Given the description of an element on the screen output the (x, y) to click on. 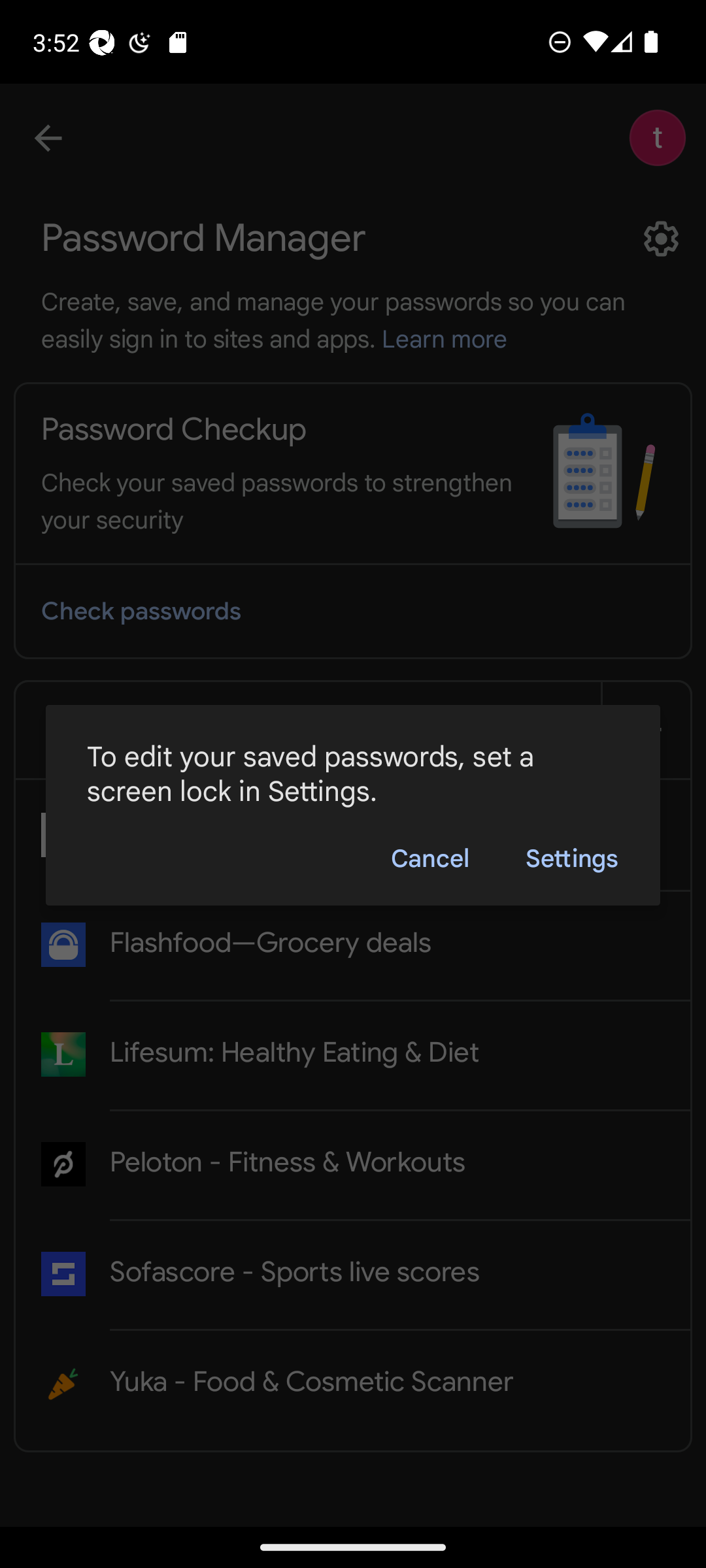
Cancel (429, 856)
Settings (571, 856)
